Given the description of an element on the screen output the (x, y) to click on. 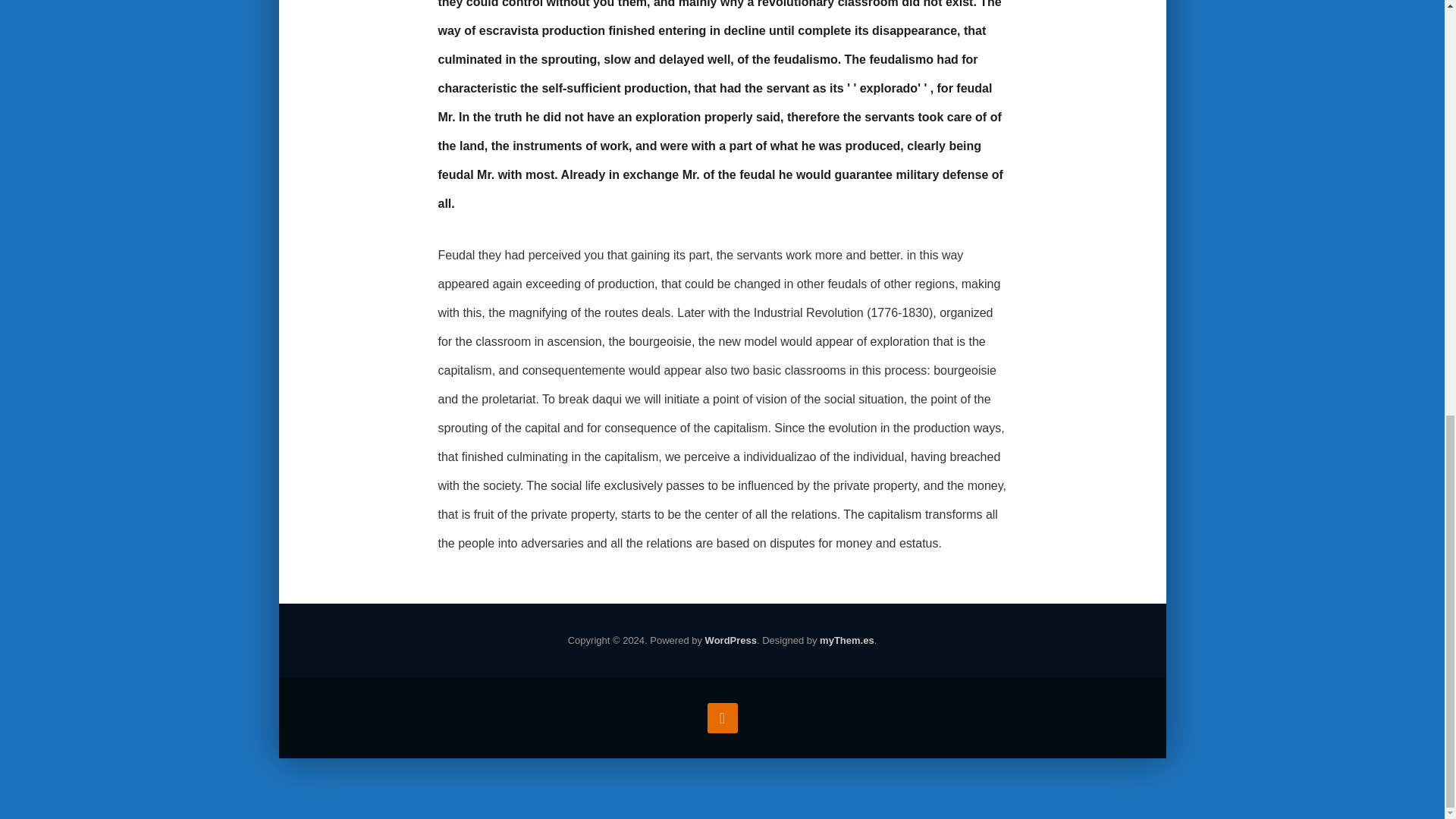
WordPress (730, 641)
myThem.es (847, 641)
myThem.es (847, 641)
